Given the description of an element on the screen output the (x, y) to click on. 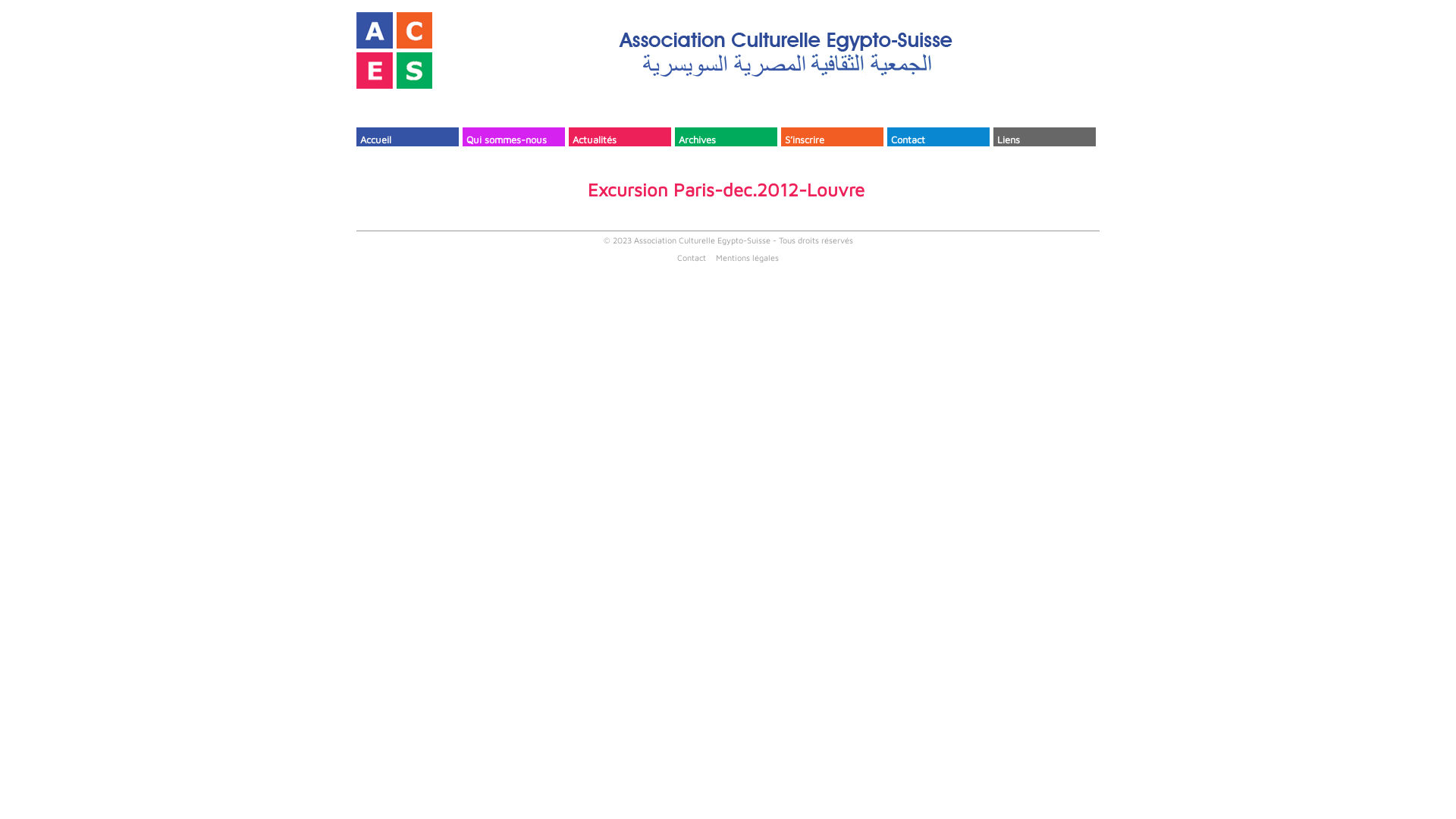
Contact Element type: text (938, 136)
Contact Element type: text (691, 257)
Qui sommes-nous Element type: text (513, 136)
Archives Element type: text (725, 136)
Accueil Element type: text (407, 136)
Liens Element type: text (1044, 136)
